Given the description of an element on the screen output the (x, y) to click on. 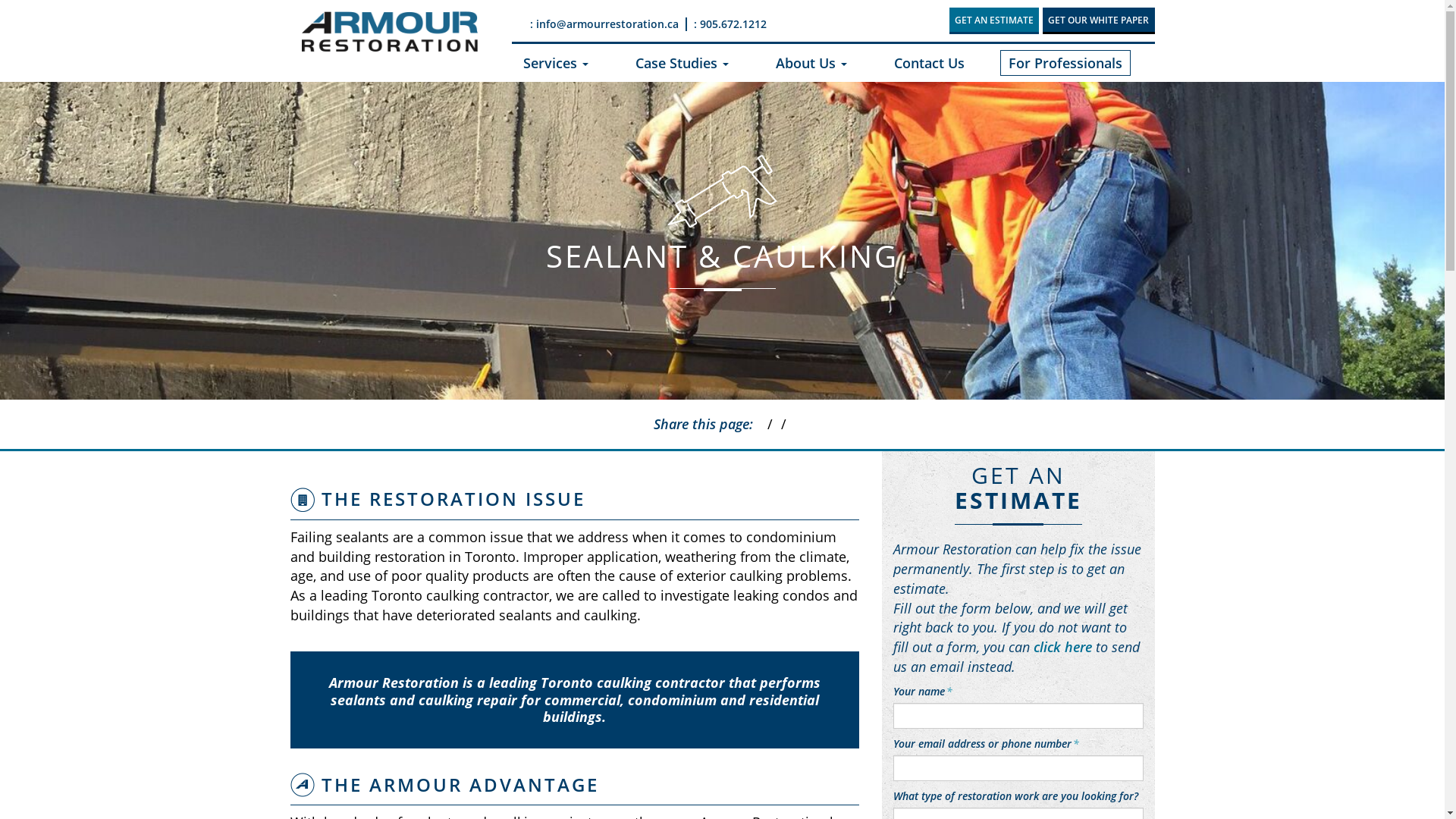
Contact Us Element type: text (928, 62)
GET OUR WHITE PAPER Element type: text (1098, 20)
ARMOUR Restoration Element type: hover (389, 31)
For Professionals Element type: text (1065, 62)
Case Studies Element type: text (682, 62)
click here Element type: text (1061, 646)
: 905.672.1212 Element type: text (729, 23)
GET AN ESTIMATE Element type: text (993, 20)
: info@armourrestoration.ca Element type: text (602, 23)
Services Element type: text (555, 62)
About Us Element type: text (811, 62)
